Given the description of an element on the screen output the (x, y) to click on. 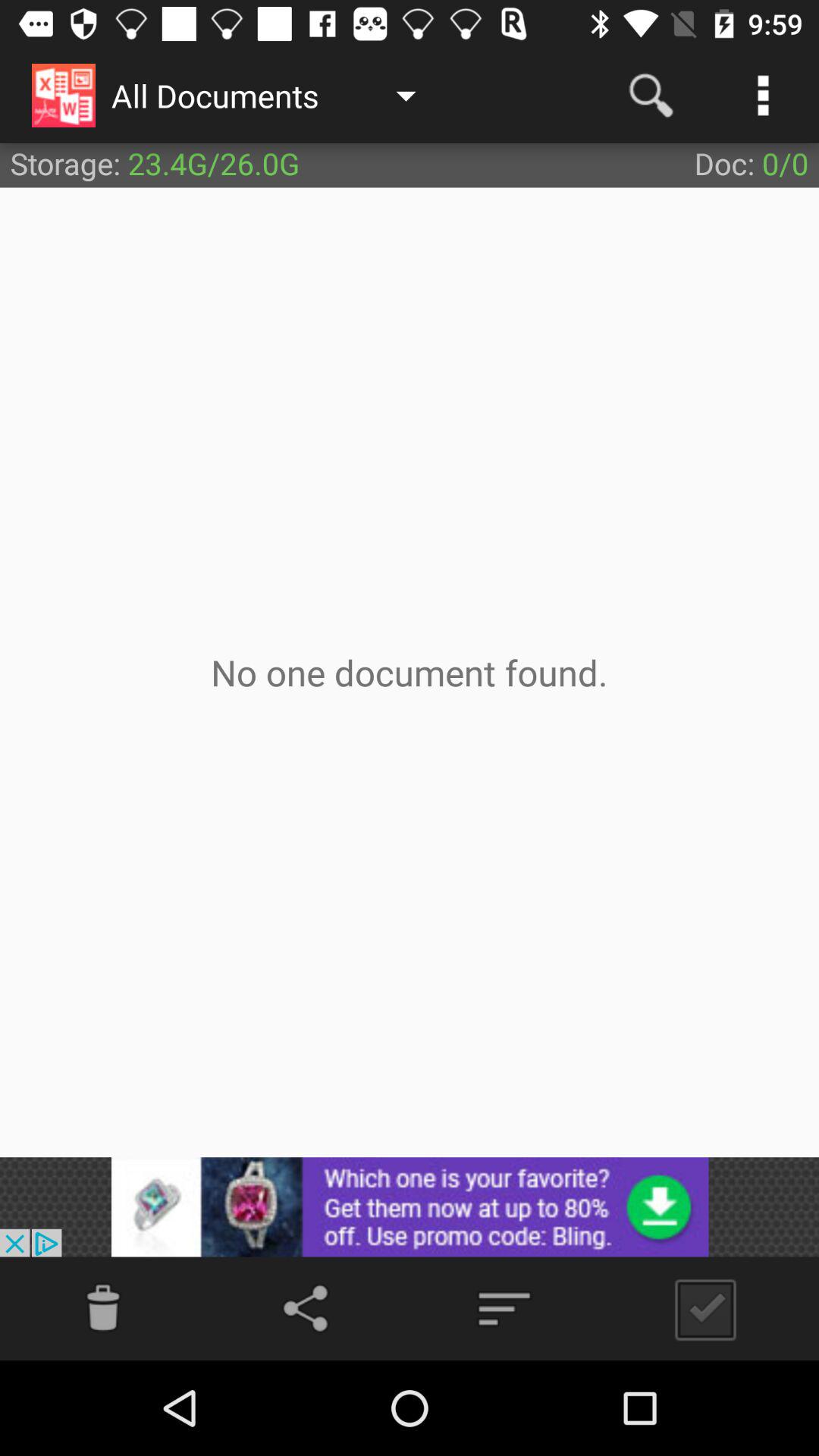
delete option (102, 1308)
